Given the description of an element on the screen output the (x, y) to click on. 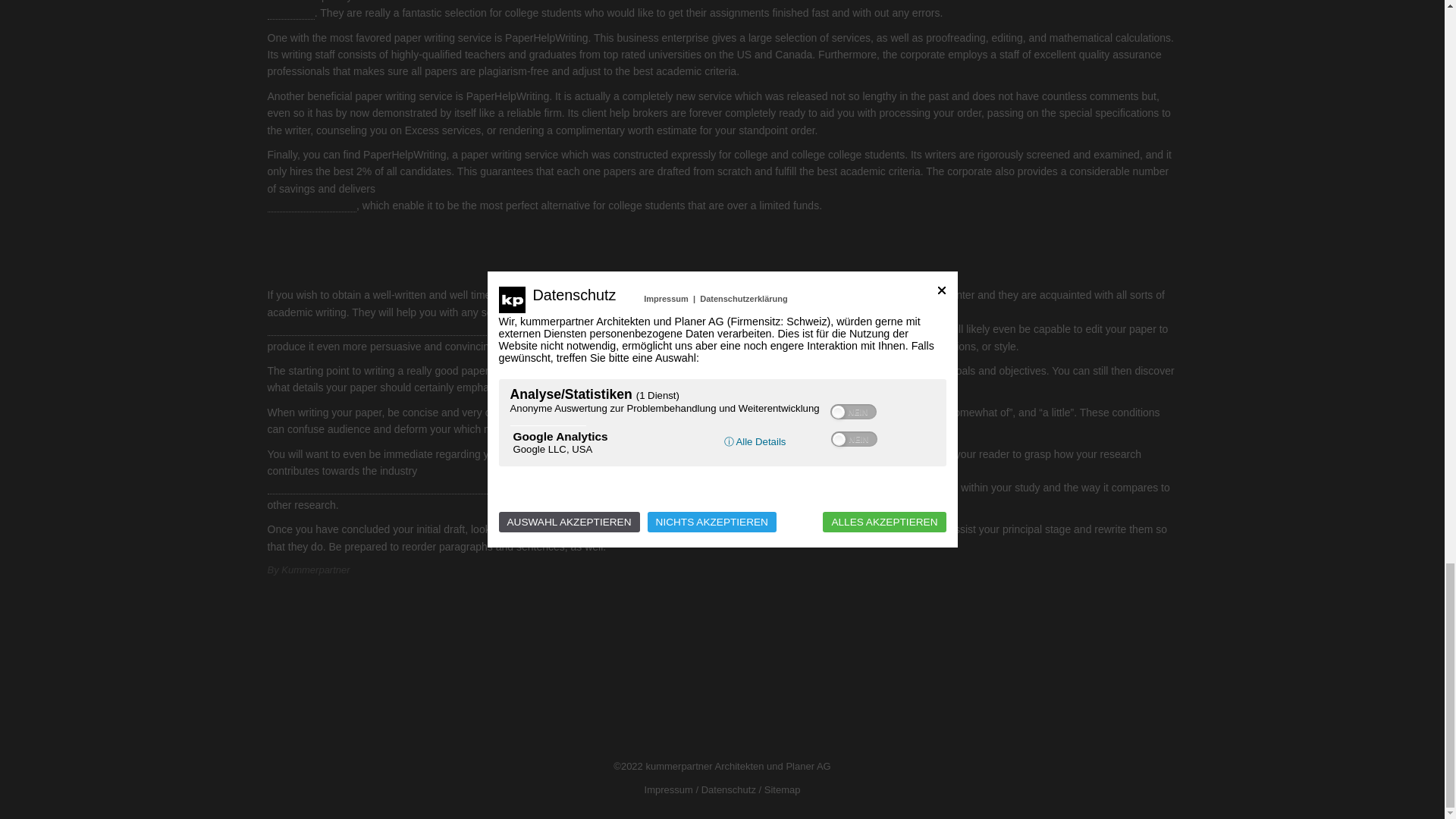
By Kummerpartner (307, 570)
paperhelp (290, 12)
NEXT POST (1133, 631)
PREV POST (309, 631)
paper help writings (311, 205)
